Given the description of an element on the screen output the (x, y) to click on. 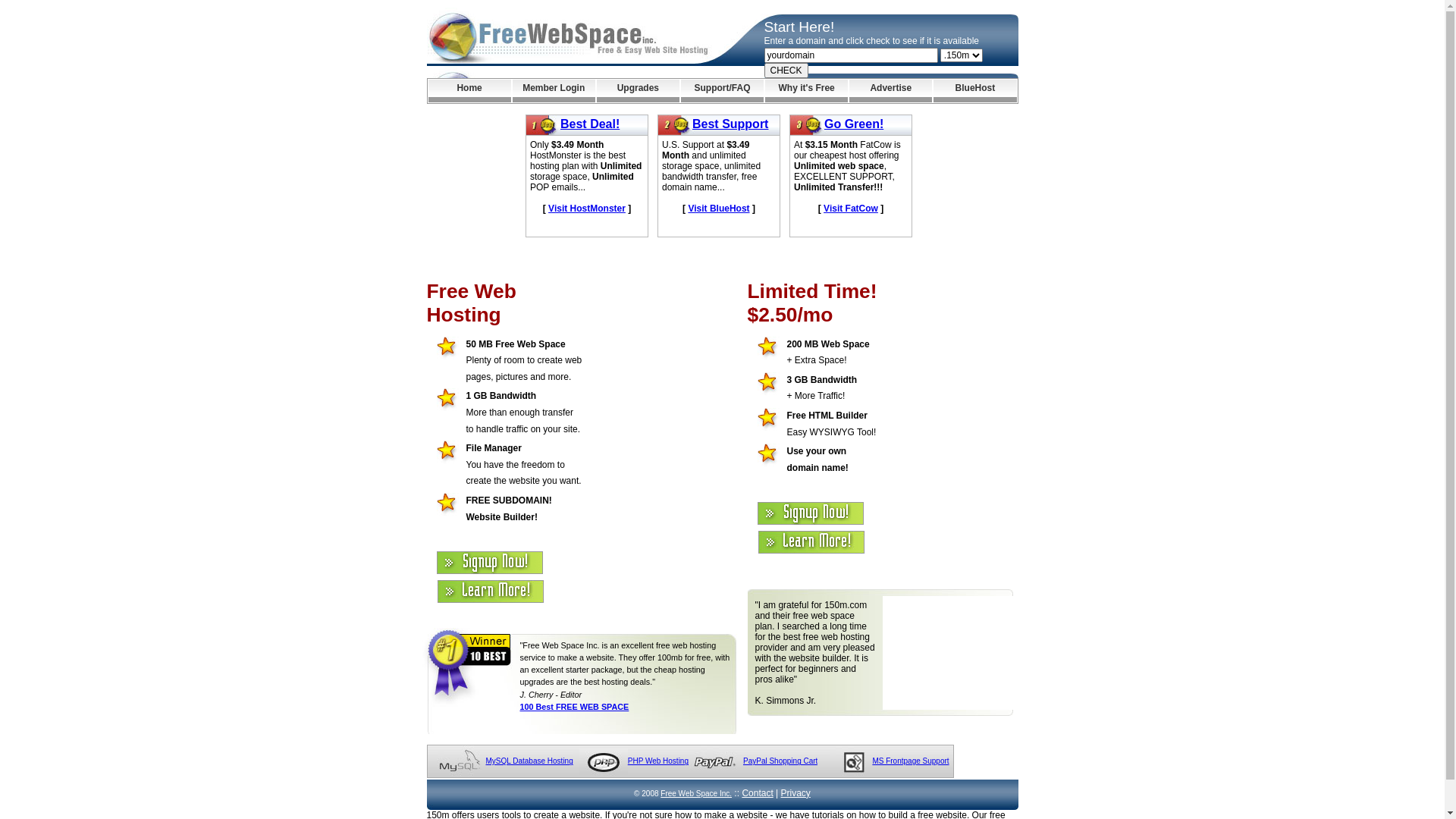
PayPal Shopping Cart Element type: text (780, 760)
MS Frontpage Support Element type: text (910, 760)
Free Web Space Inc. Element type: text (695, 793)
100 Best FREE WEB SPACE Element type: text (574, 706)
Privacy Element type: text (795, 792)
Upgrades Element type: text (637, 90)
PHP Web Hosting Element type: text (657, 760)
Member Login Element type: text (553, 90)
MySQL Database Hosting Element type: text (528, 760)
BlueHost Element type: text (974, 90)
Support/FAQ Element type: text (721, 90)
Why it's Free Element type: text (806, 90)
Home Element type: text (468, 90)
Advertise Element type: text (890, 90)
CHECK Element type: text (786, 70)
Contact Element type: text (756, 792)
